Given the description of an element on the screen output the (x, y) to click on. 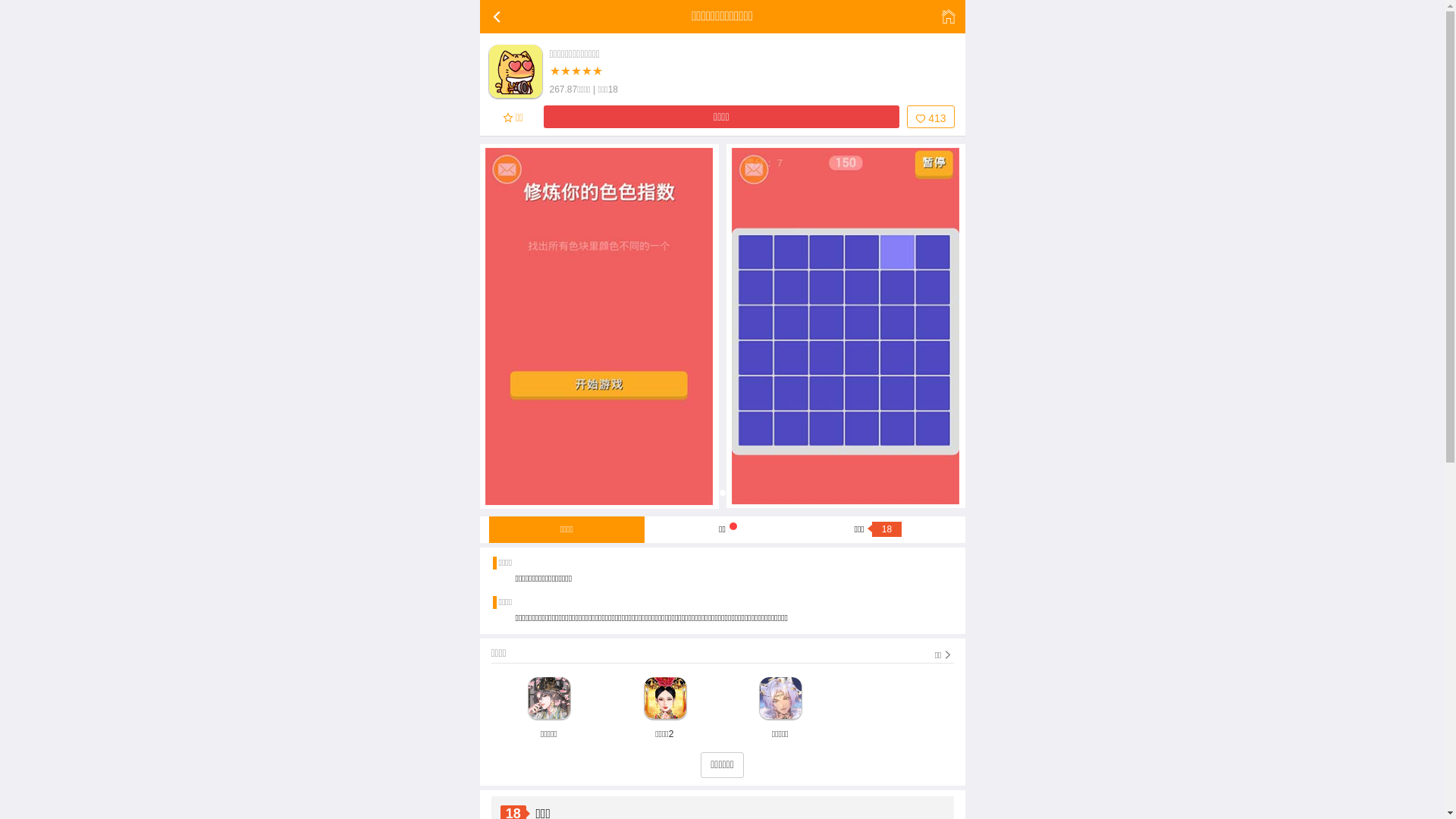
413 Element type: text (929, 116)
